Given the description of an element on the screen output the (x, y) to click on. 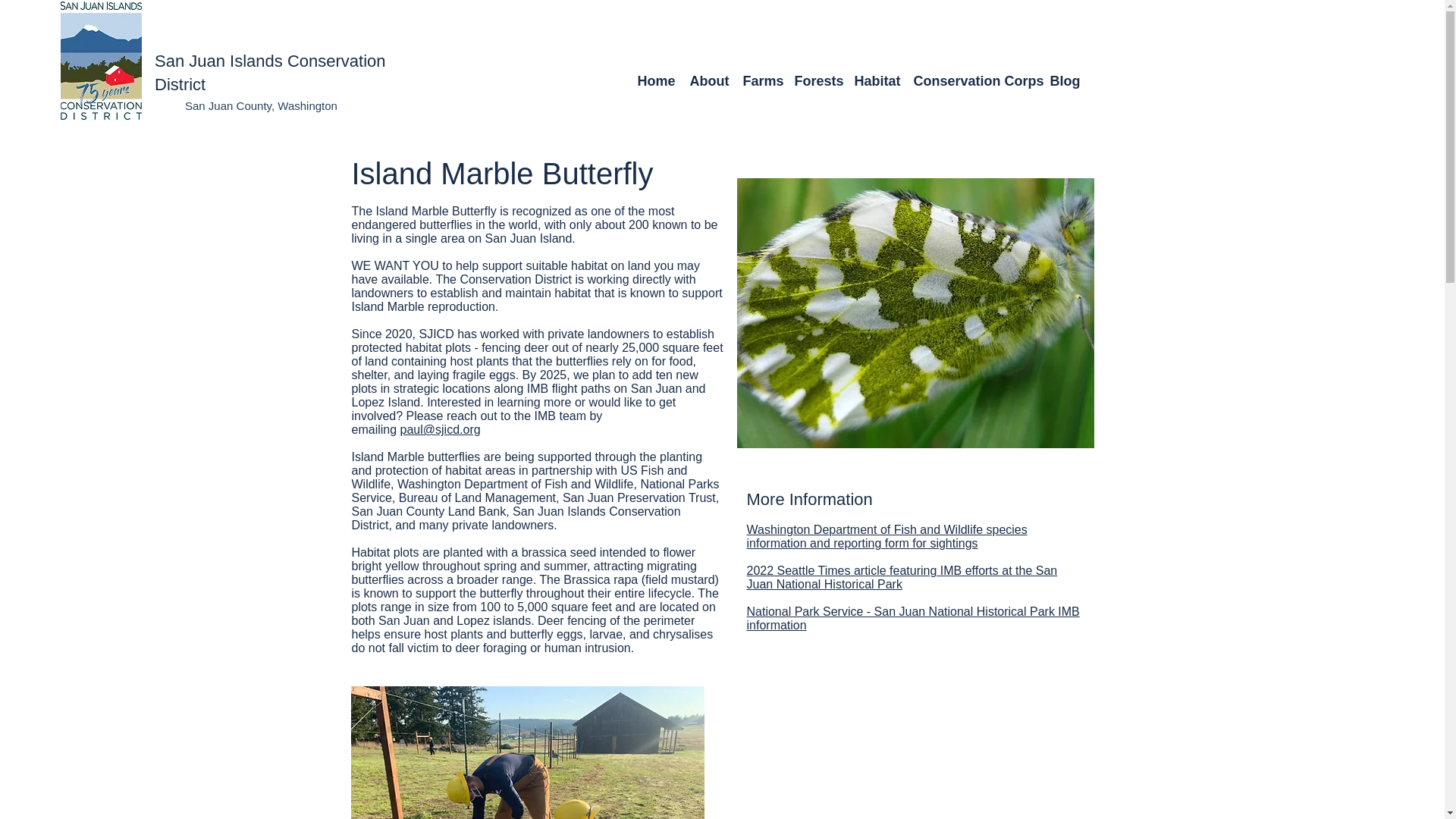
Home (654, 80)
Habitat (875, 80)
Conservation Corps (973, 80)
Forests (817, 80)
Blog (1063, 80)
San Juan Islands Conservation District (269, 72)
Farms (761, 80)
